Given the description of an element on the screen output the (x, y) to click on. 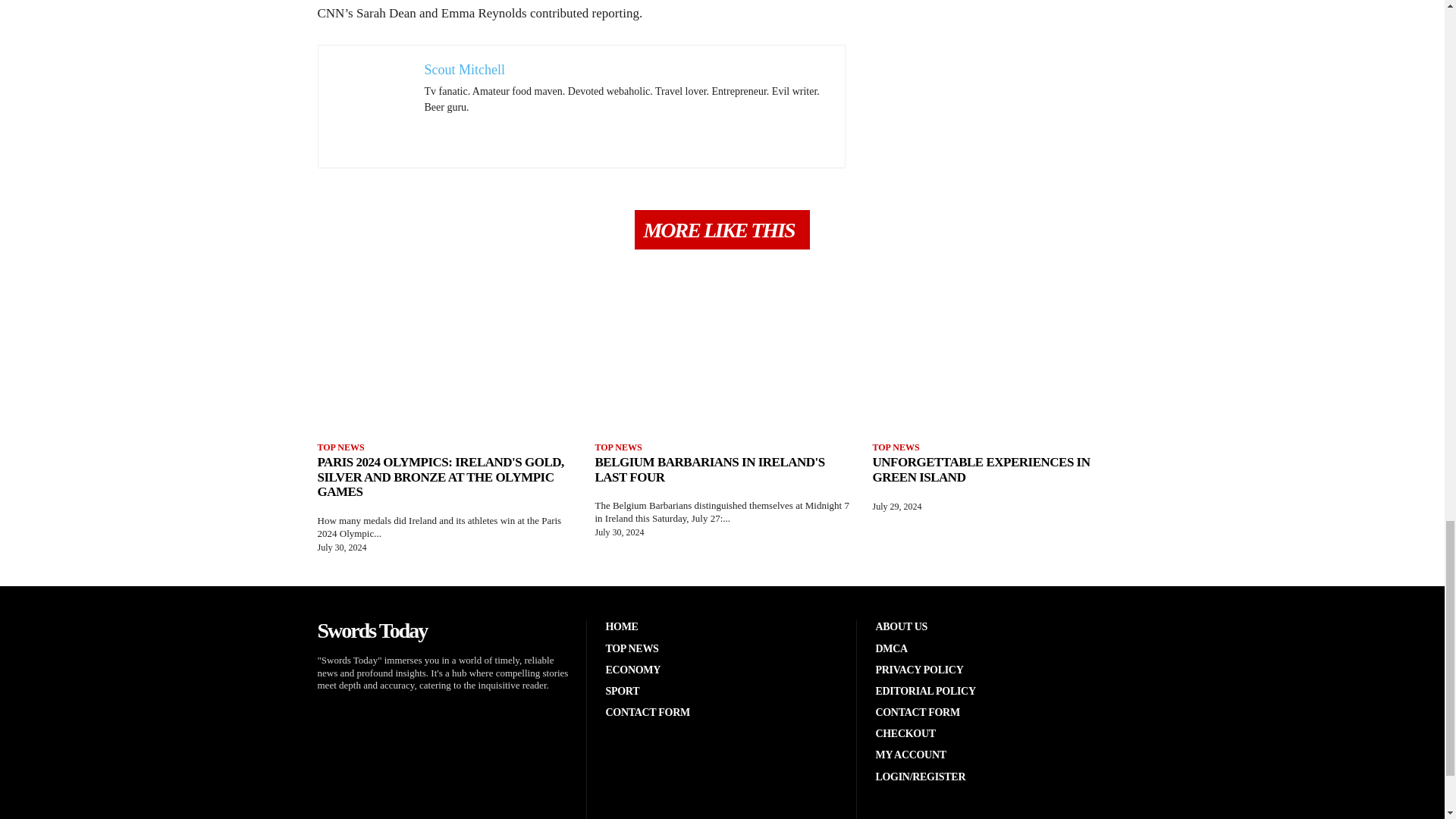
Scout Mitchell (465, 69)
